Given the description of an element on the screen output the (x, y) to click on. 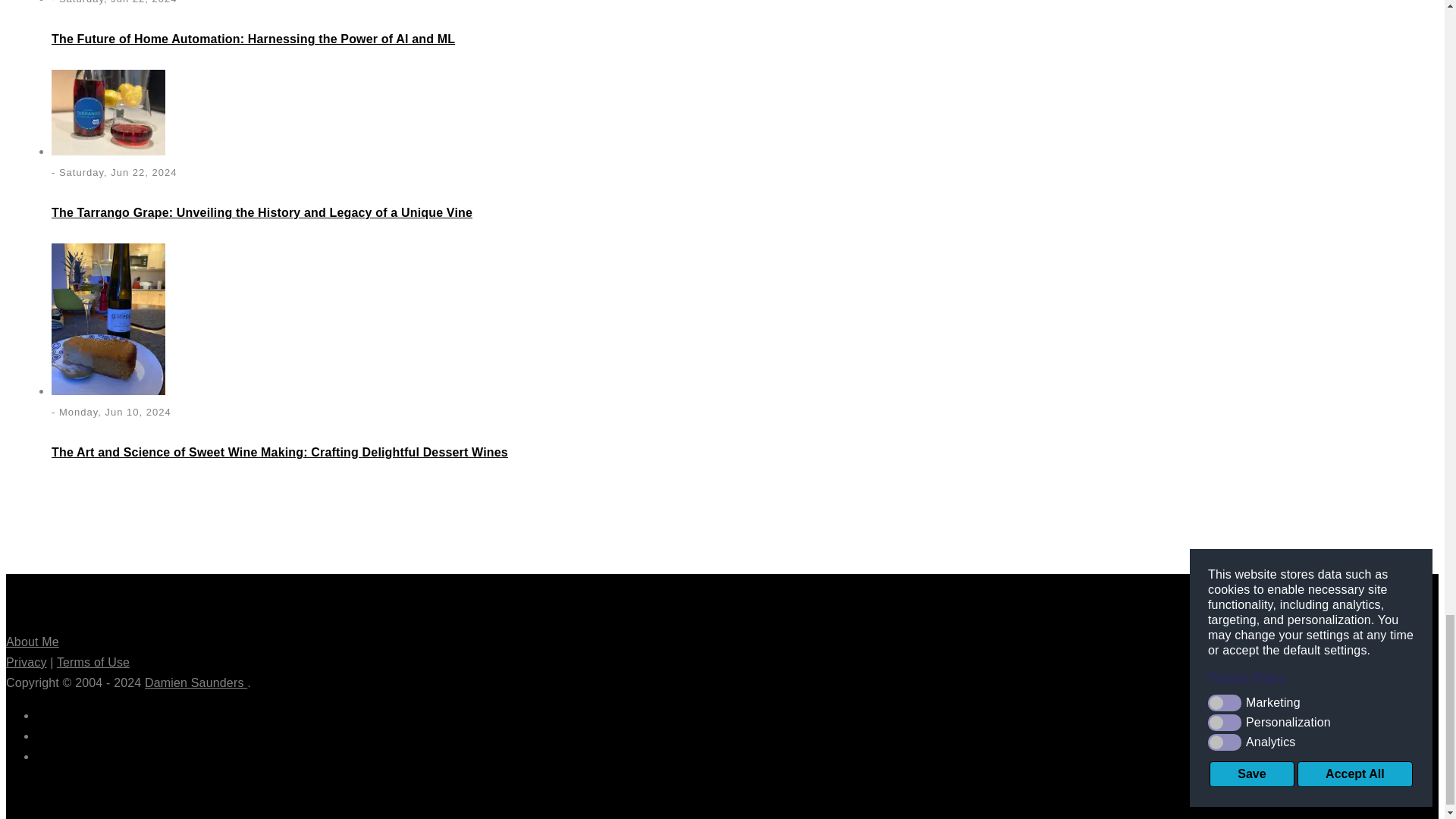
a bottle of Tarrango wine and a glass (107, 112)
